Given the description of an element on the screen output the (x, y) to click on. 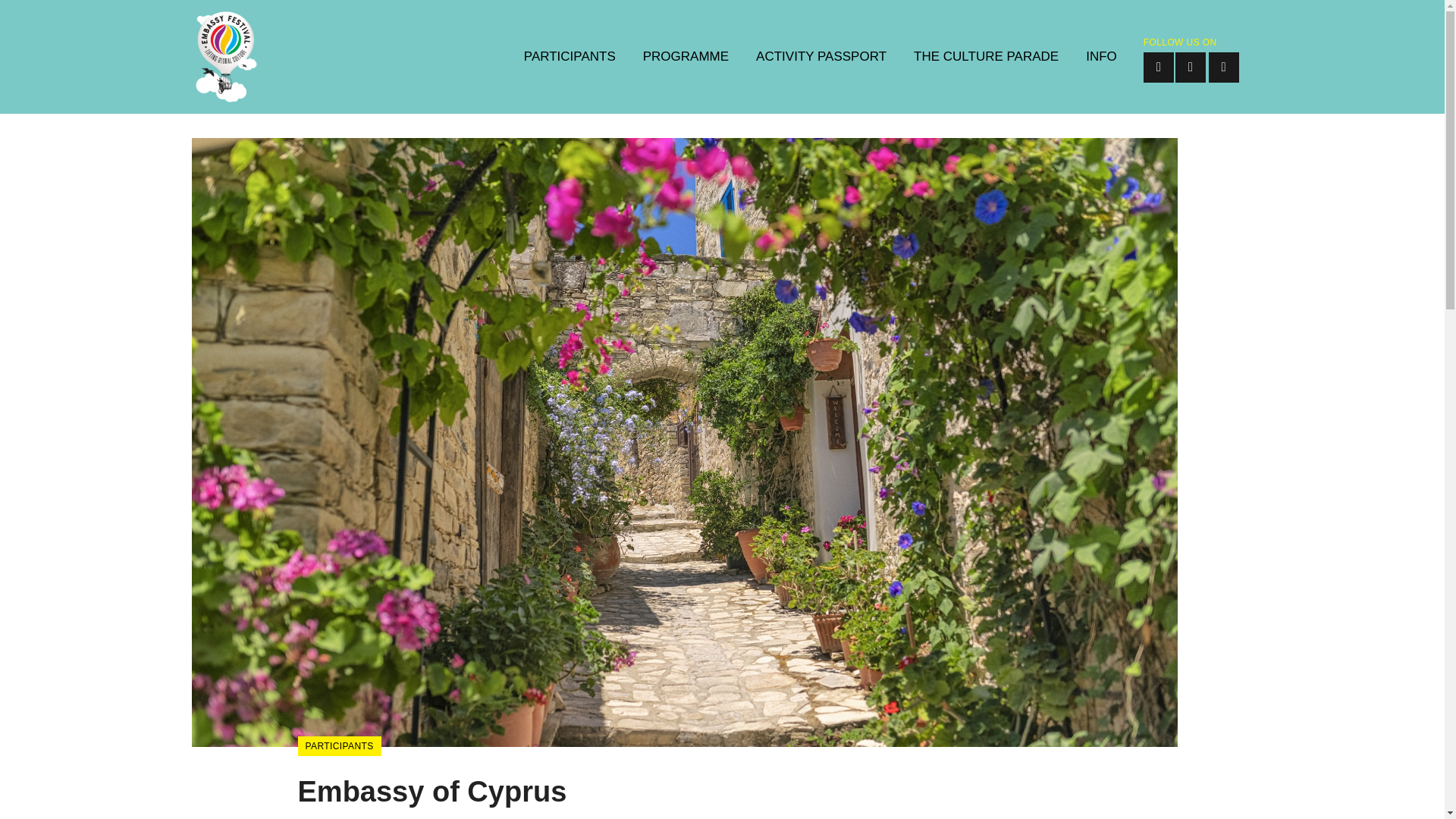
PARTICIPANTS (338, 745)
PROGRAMME (685, 56)
THE CULTURE PARADE (985, 56)
ACTIVITY PASSPORT (820, 56)
PARTICIPANTS (569, 56)
